Given the description of an element on the screen output the (x, y) to click on. 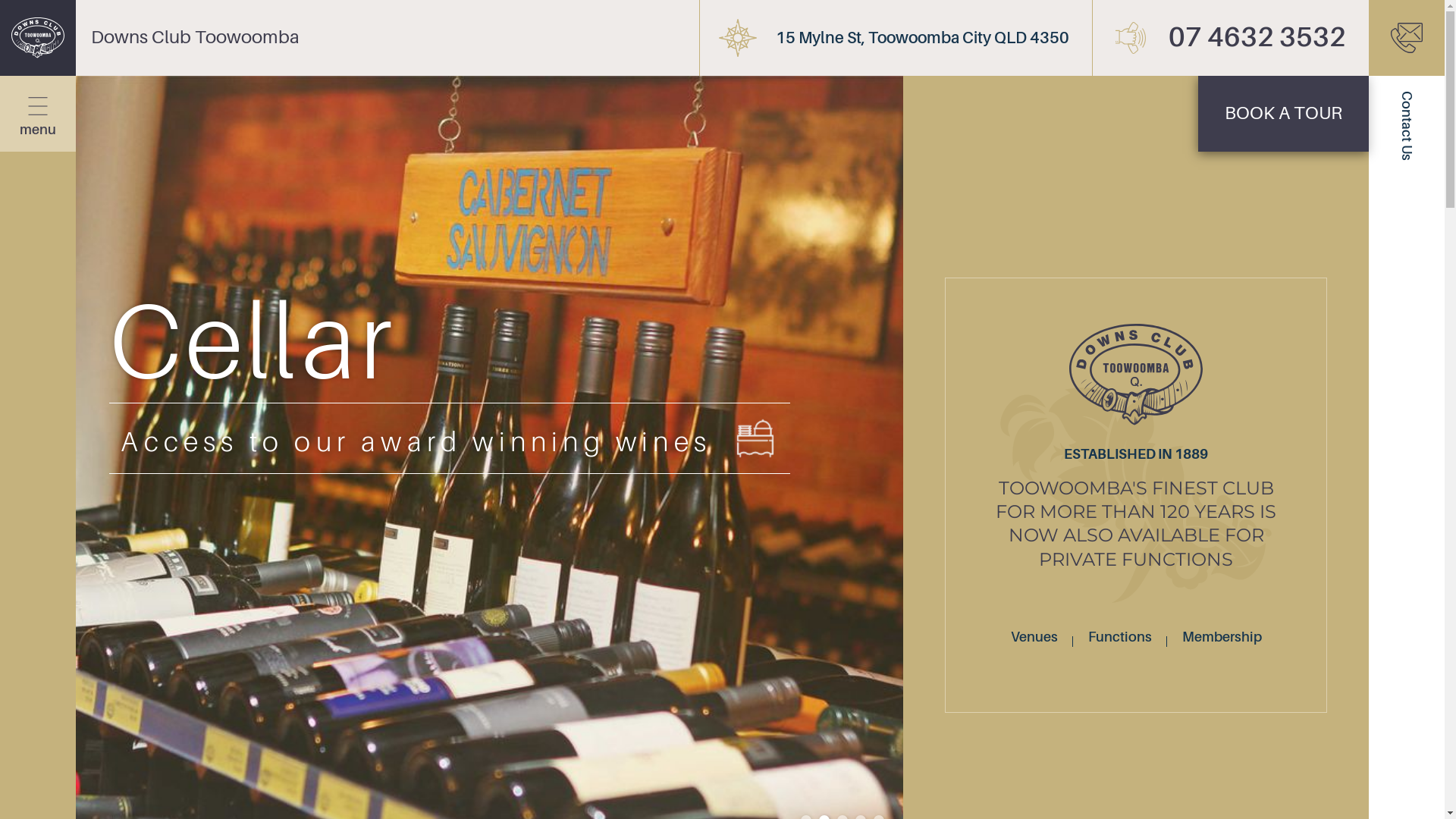
Functions Element type: text (1119, 636)
Membership Element type: text (1221, 636)
Contact Us Element type: text (1406, 37)
BOOK A TOUR Element type: text (1283, 113)
Downs Club Toowoomba Element type: text (149, 37)
07 4632 3532 Element type: text (1230, 37)
15 Mylne St, Toowoomba City QLD 4350 Element type: text (895, 37)
Venues Element type: text (1033, 636)
